Given the description of an element on the screen output the (x, y) to click on. 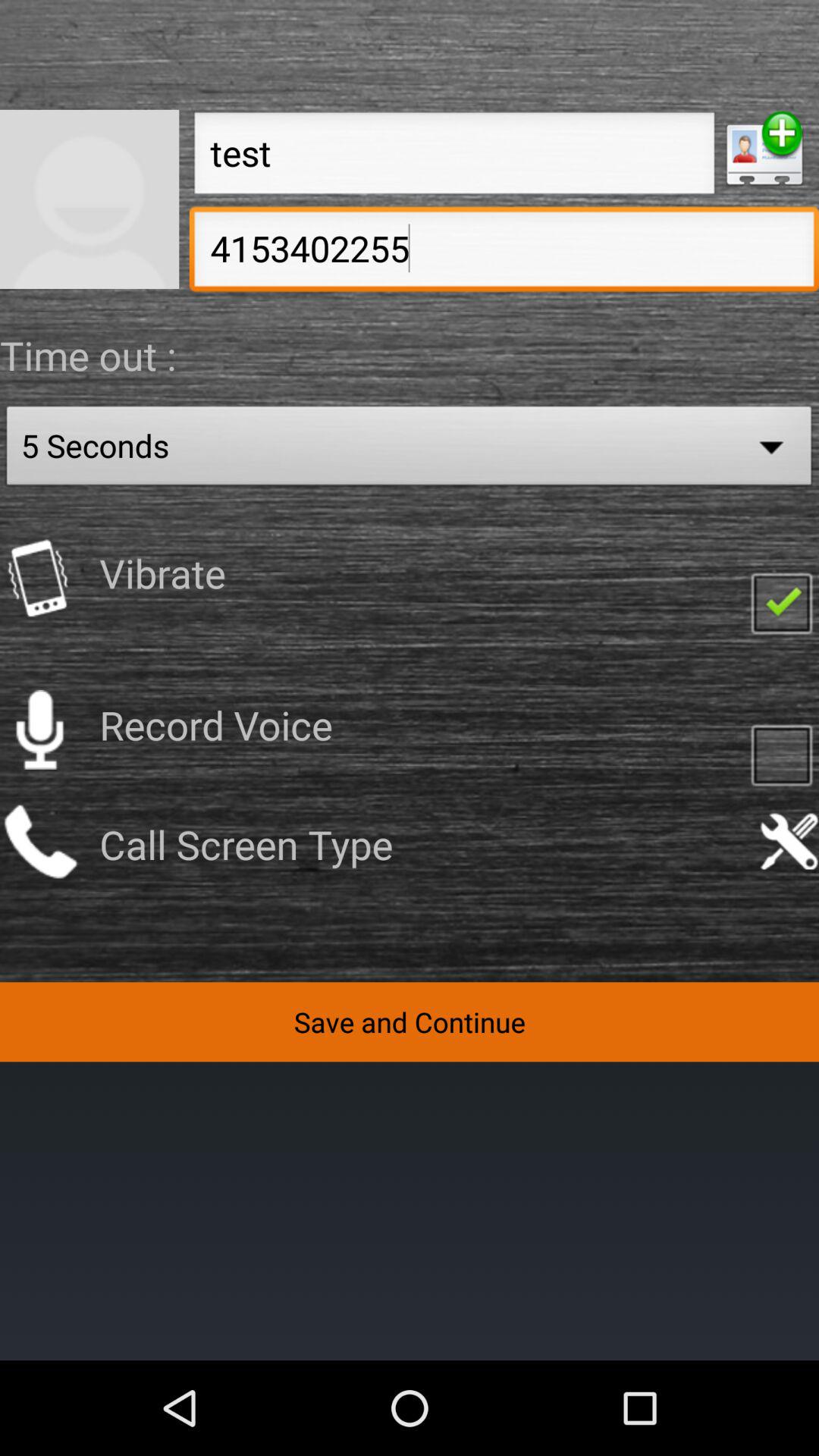
view profile (89, 198)
